Given the description of an element on the screen output the (x, y) to click on. 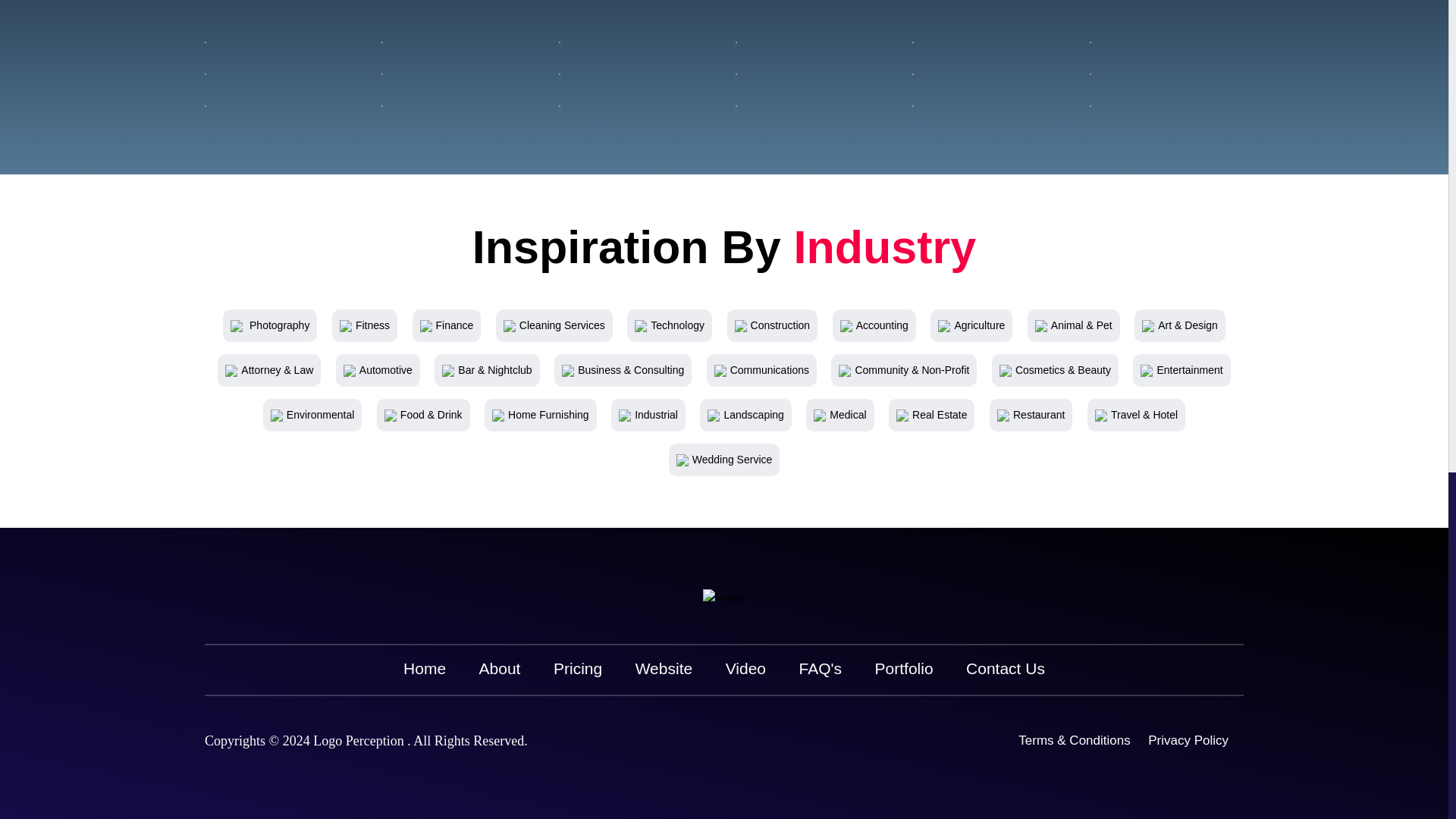
Finance (447, 325)
Cleaning Services (554, 325)
Accounting (874, 325)
Photography (269, 325)
Fitness (364, 325)
Construction (772, 325)
Technology (669, 325)
Agriculture (970, 325)
